Given the description of an element on the screen output the (x, y) to click on. 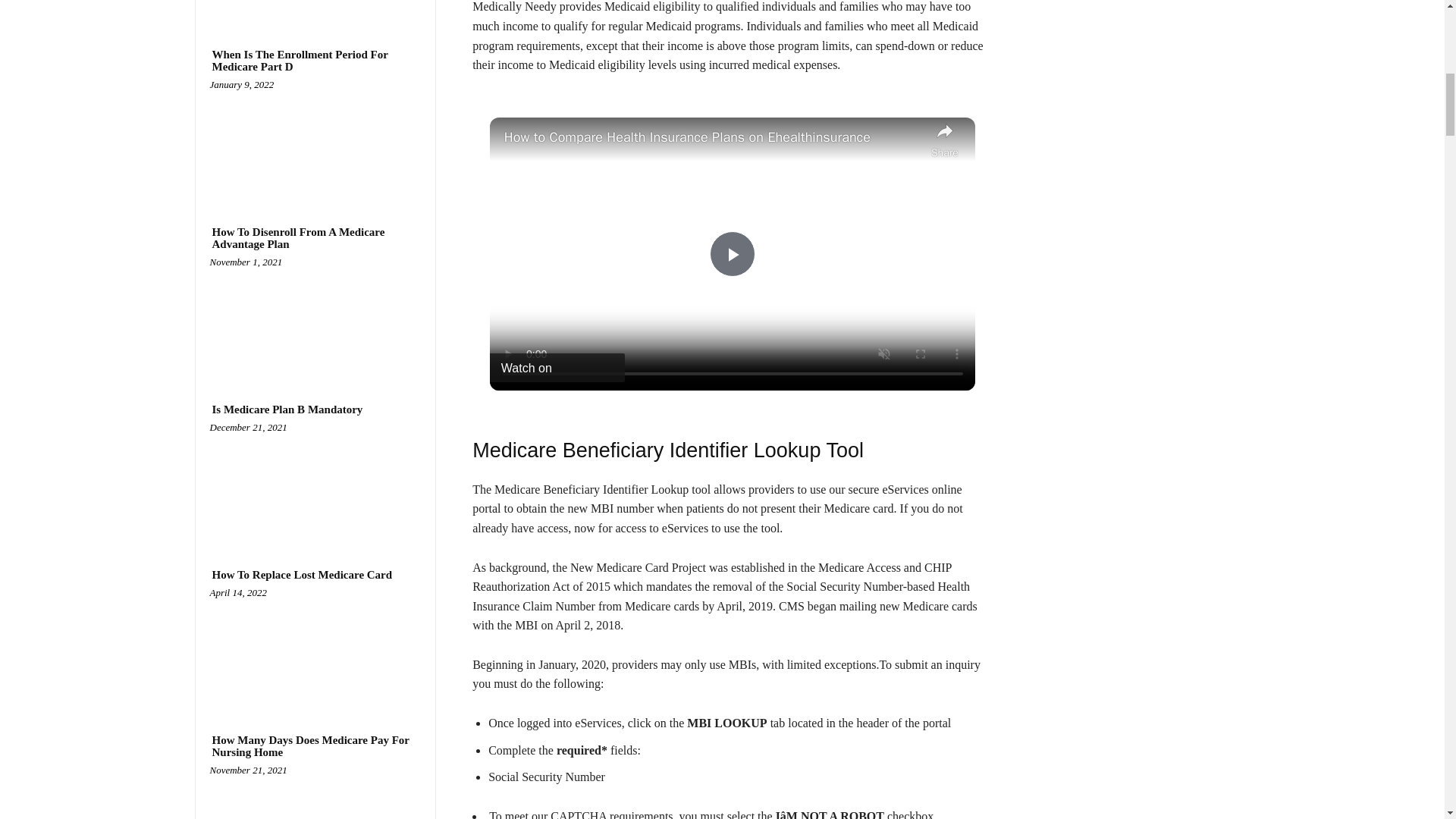
When Is The Enrollment Period For Medicare Part D (314, 140)
When Is The Enrollment Period For Medicare Part D (314, 60)
How To Disenroll From A Medicare Advantage Plan (314, 318)
What Income Is Used For Medicare Part B Premiums (314, 7)
Is Medicare Plan B Mandatory (314, 483)
How To Disenroll From A Medicare Advantage Plan (314, 238)
